Given the description of an element on the screen output the (x, y) to click on. 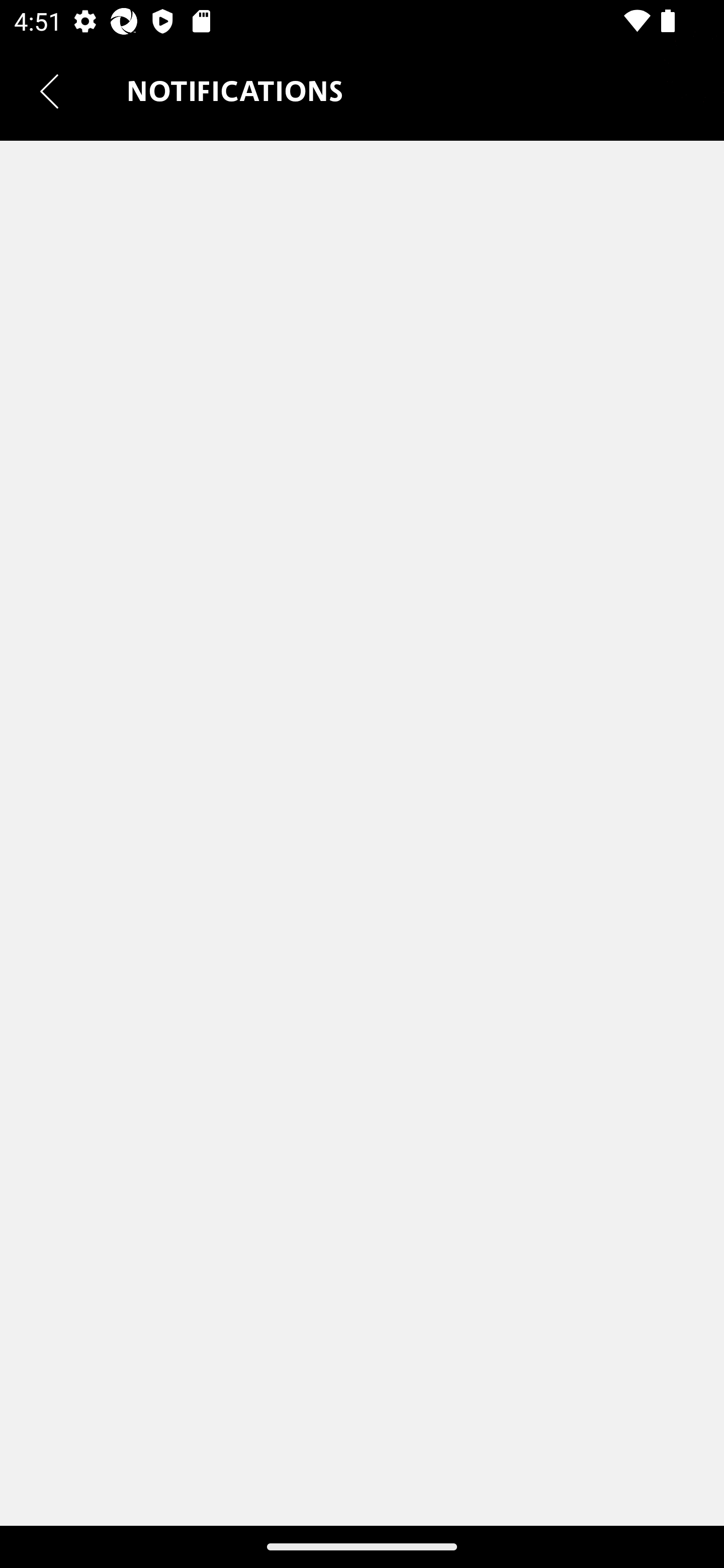
Navigate up (49, 91)
